Given the description of an element on the screen output the (x, y) to click on. 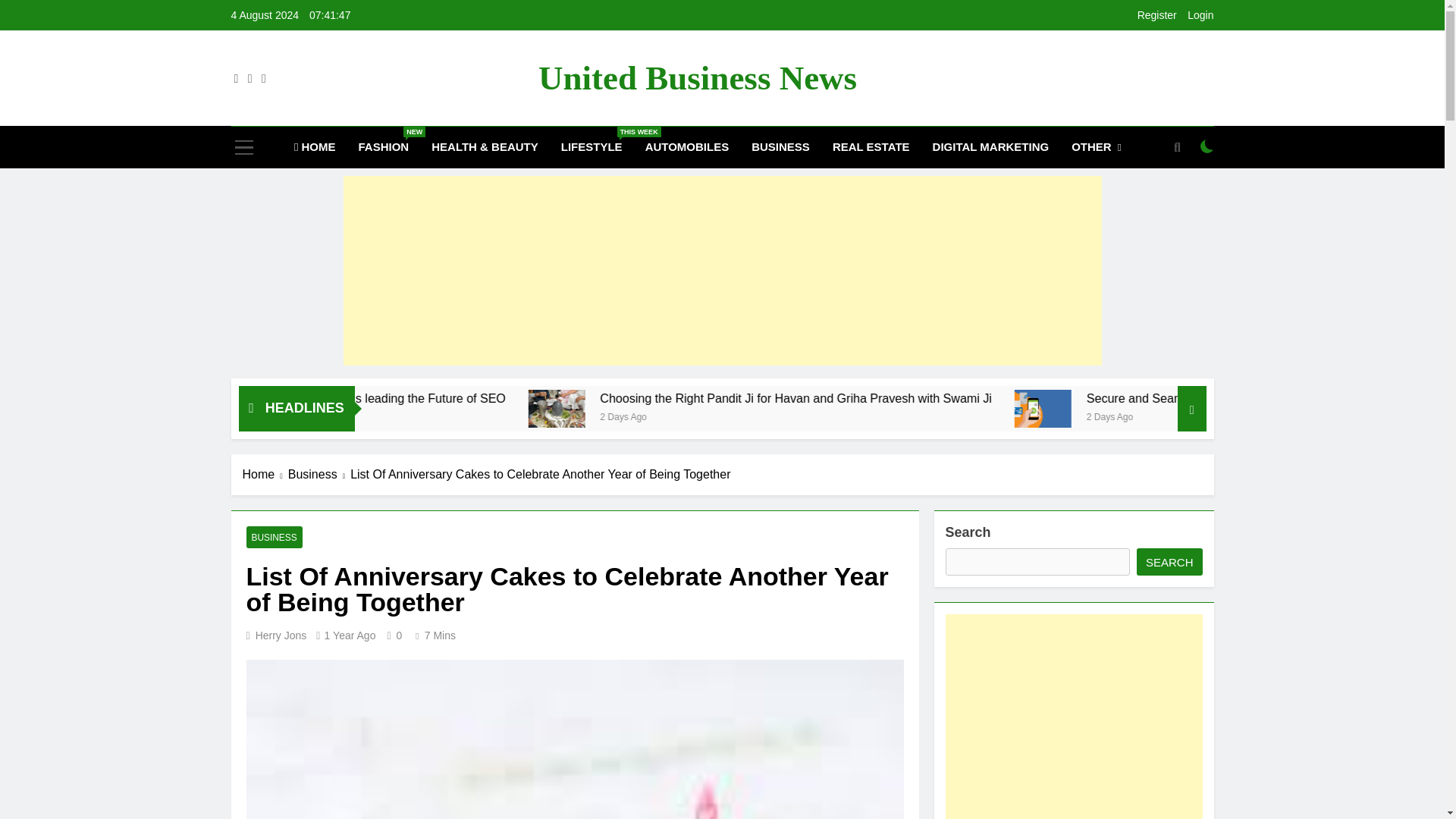
on (1206, 146)
United Business News (697, 77)
Login (1200, 15)
Register (1156, 15)
